Given the description of an element on the screen output the (x, y) to click on. 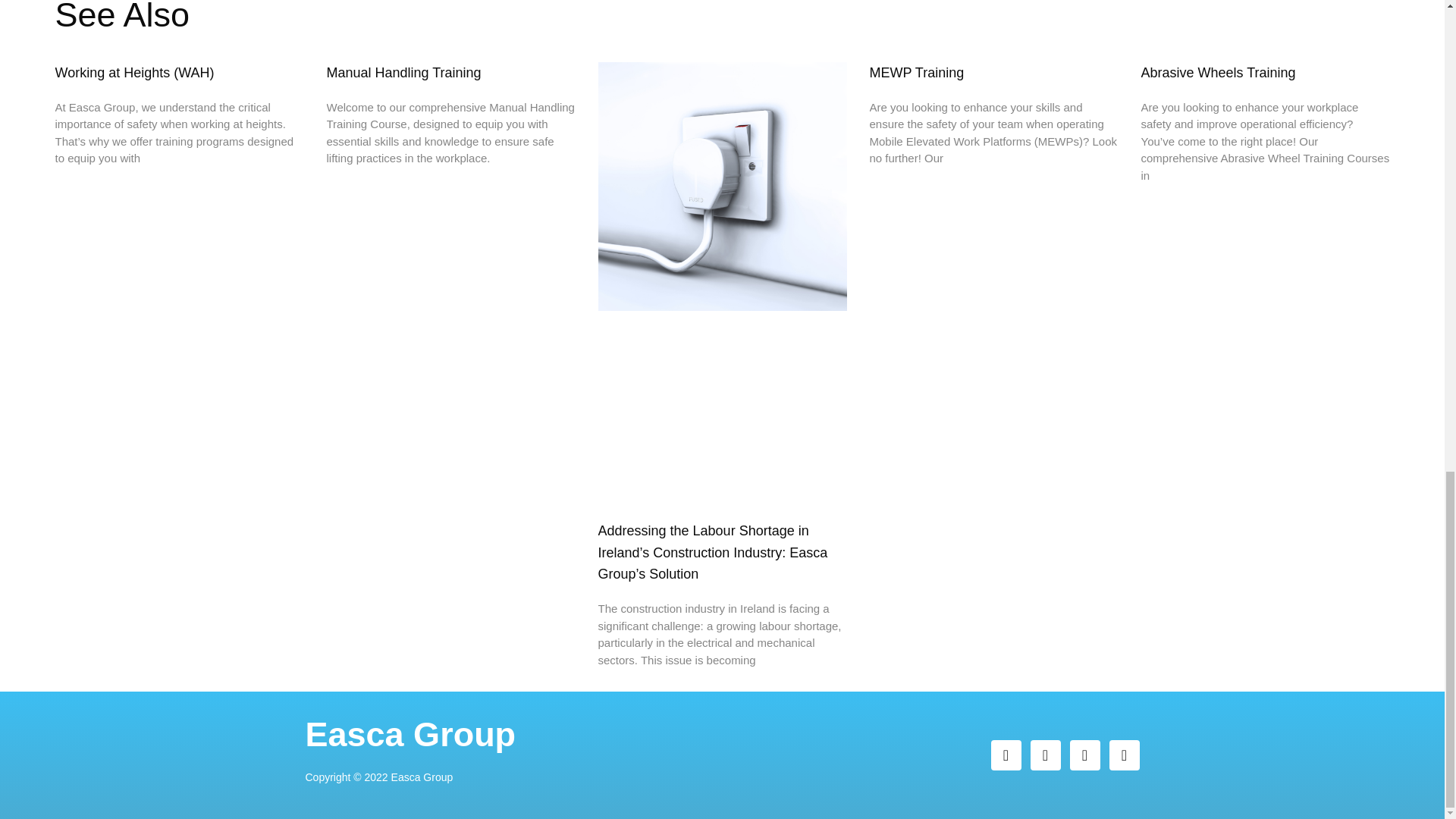
Abrasive Wheels Training (1217, 72)
MEWP Training (916, 72)
Manual Handling Training (403, 72)
